Given the description of an element on the screen output the (x, y) to click on. 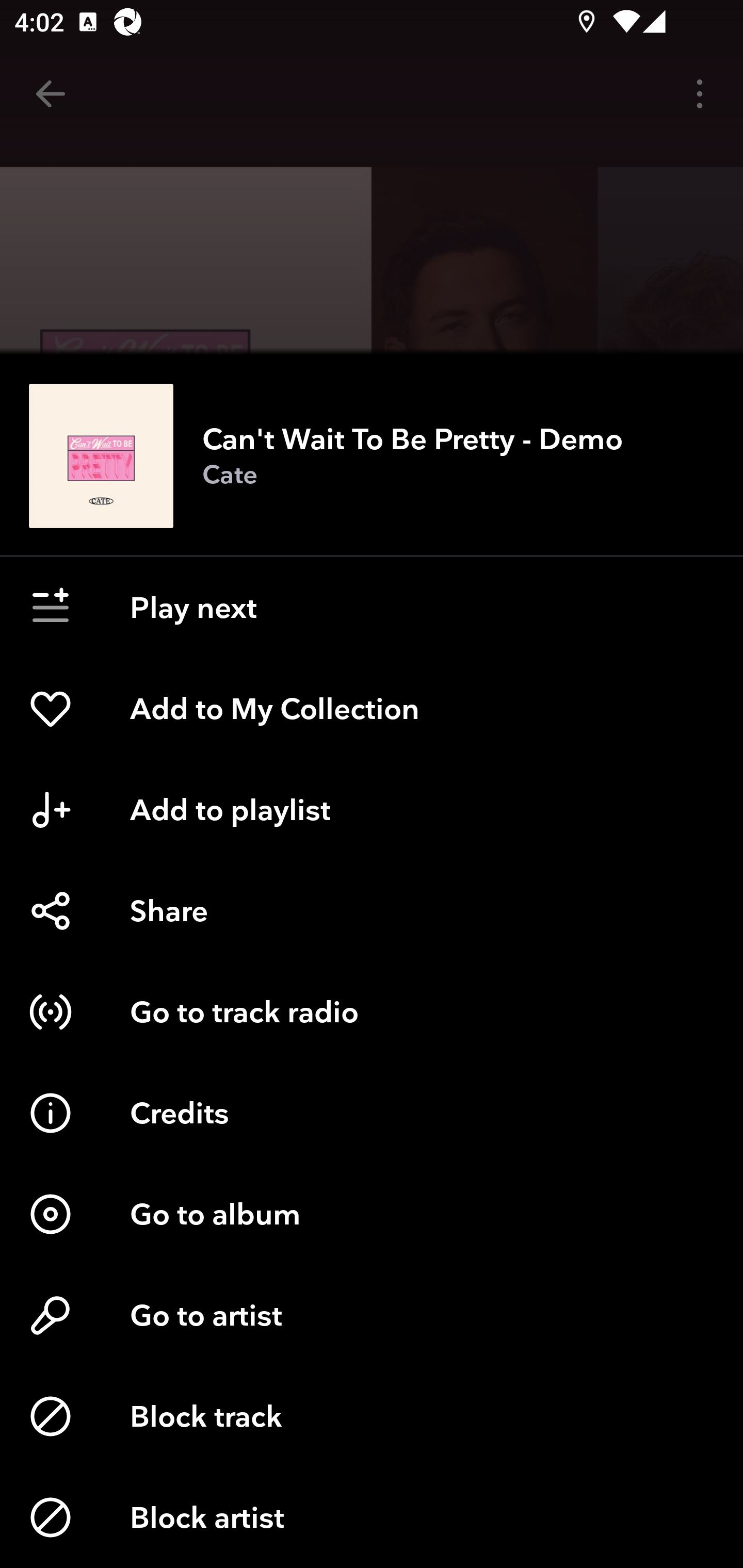
Play next (371, 607)
Add to My Collection (371, 708)
Add to playlist (371, 809)
Share (371, 910)
Go to track radio (371, 1012)
Credits (371, 1113)
Go to album (371, 1214)
Go to artist (371, 1315)
Block track (371, 1416)
Block artist (371, 1517)
